Given the description of an element on the screen output the (x, y) to click on. 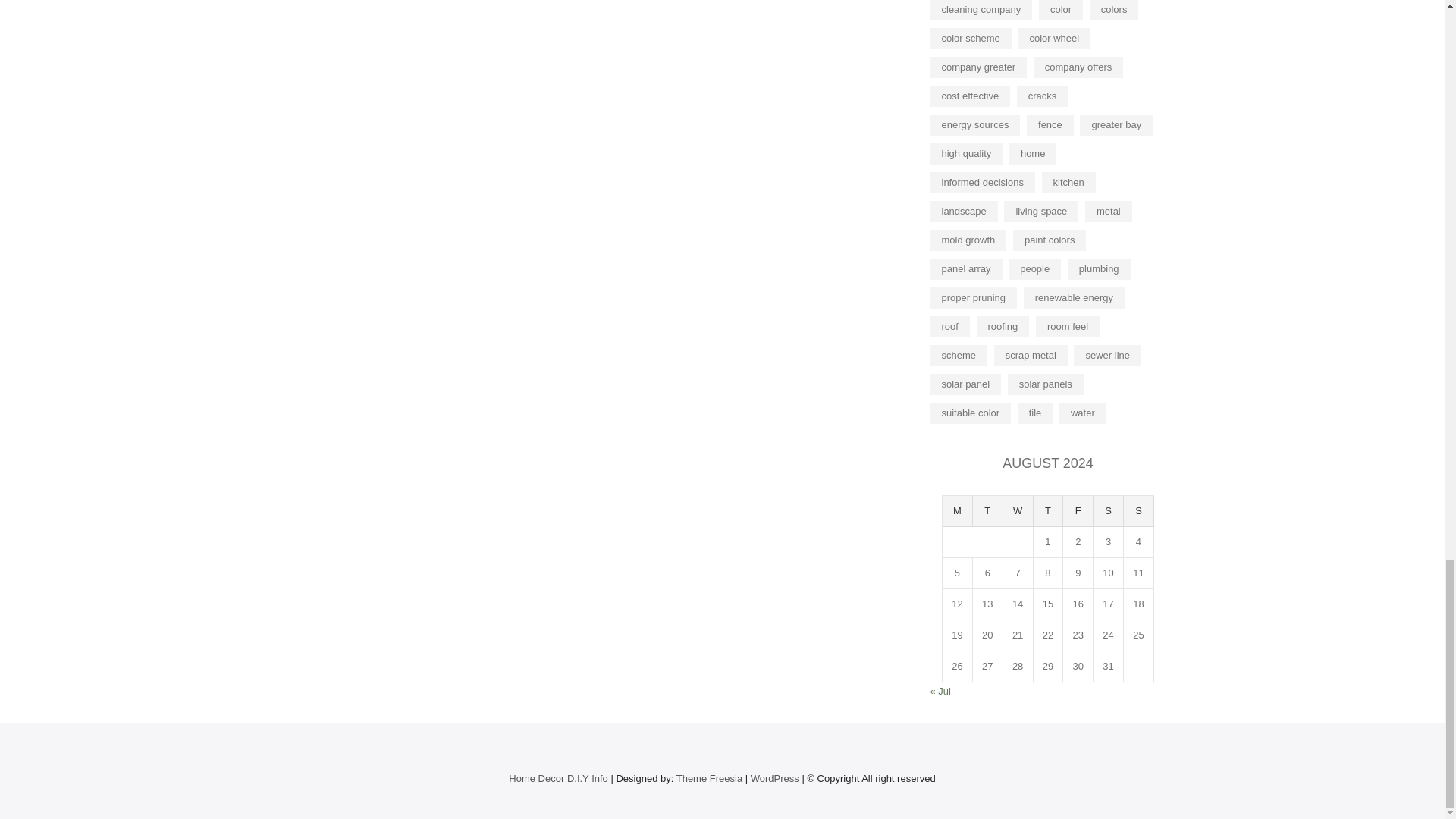
Home Decor D.I.Y Info (558, 778)
Thursday (1048, 511)
Theme Freesia (709, 778)
Friday (1077, 511)
Tuesday (987, 511)
WordPress (775, 778)
Monday (957, 511)
Saturday (1108, 511)
Sunday (1139, 511)
Wednesday (1018, 511)
